Given the description of an element on the screen output the (x, y) to click on. 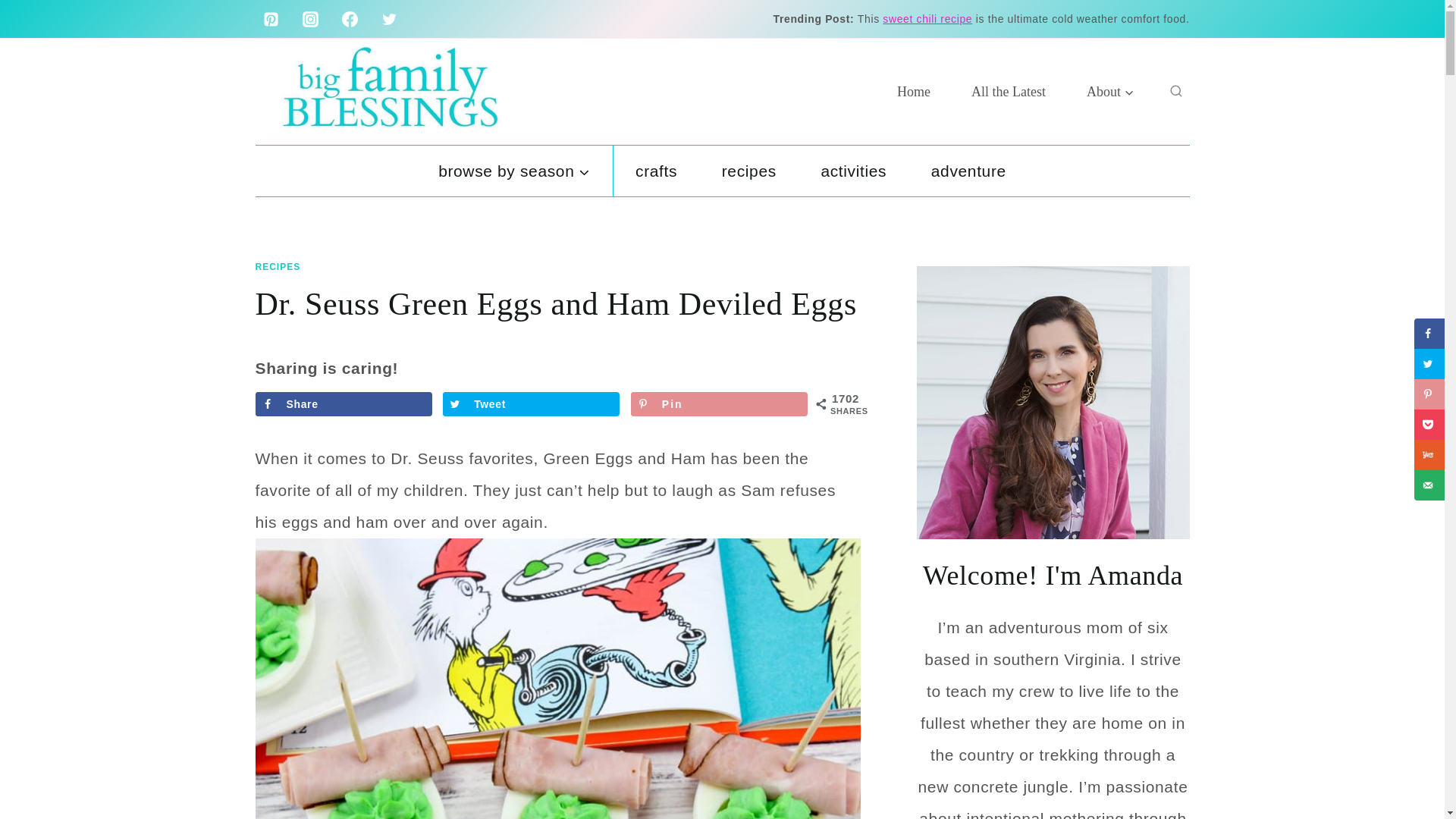
Share on Twitter (531, 404)
sweet chili recipe (927, 19)
crafts (656, 170)
activities (852, 170)
adventure (967, 170)
browse by season (514, 170)
Save to Pinterest (719, 404)
About (1109, 91)
Share on Facebook (342, 404)
recipes (747, 170)
